Given the description of an element on the screen output the (x, y) to click on. 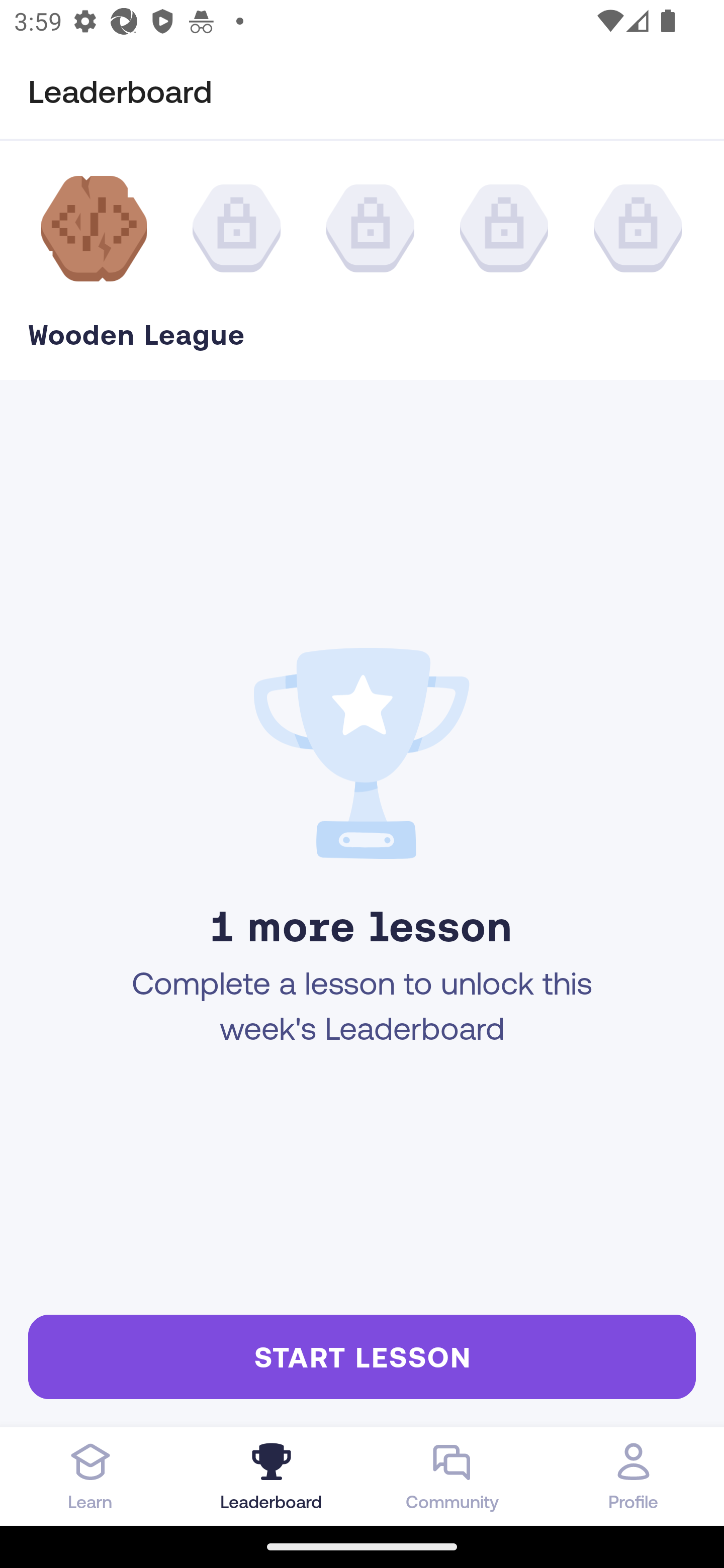
START LESSON (361, 1355)
Learn (90, 1475)
Community (452, 1475)
Profile (633, 1475)
